Given the description of an element on the screen output the (x, y) to click on. 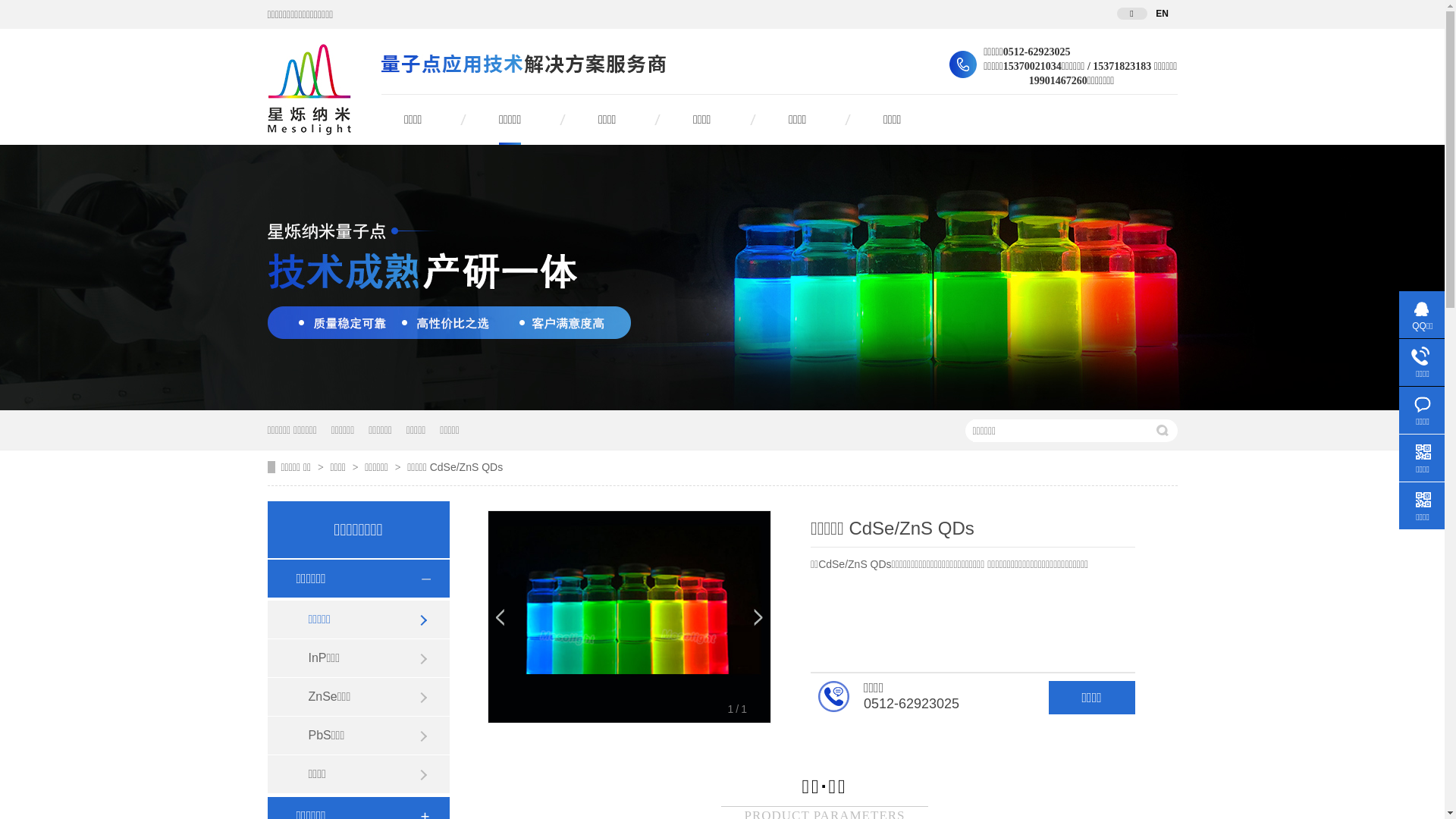
EN Element type: text (1161, 13)
